Given the description of an element on the screen output the (x, y) to click on. 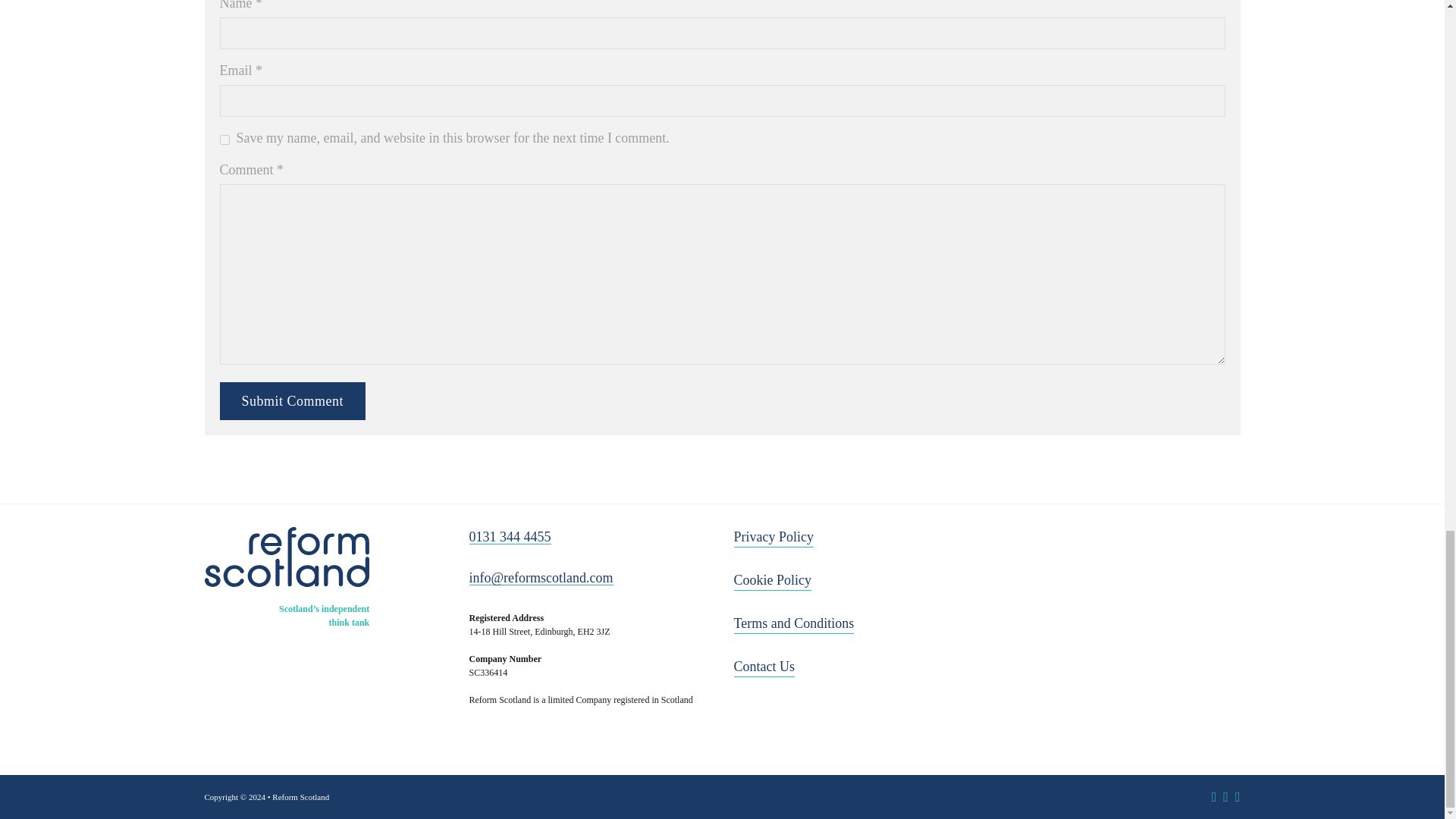
Submit Comment (292, 401)
